Given the description of an element on the screen output the (x, y) to click on. 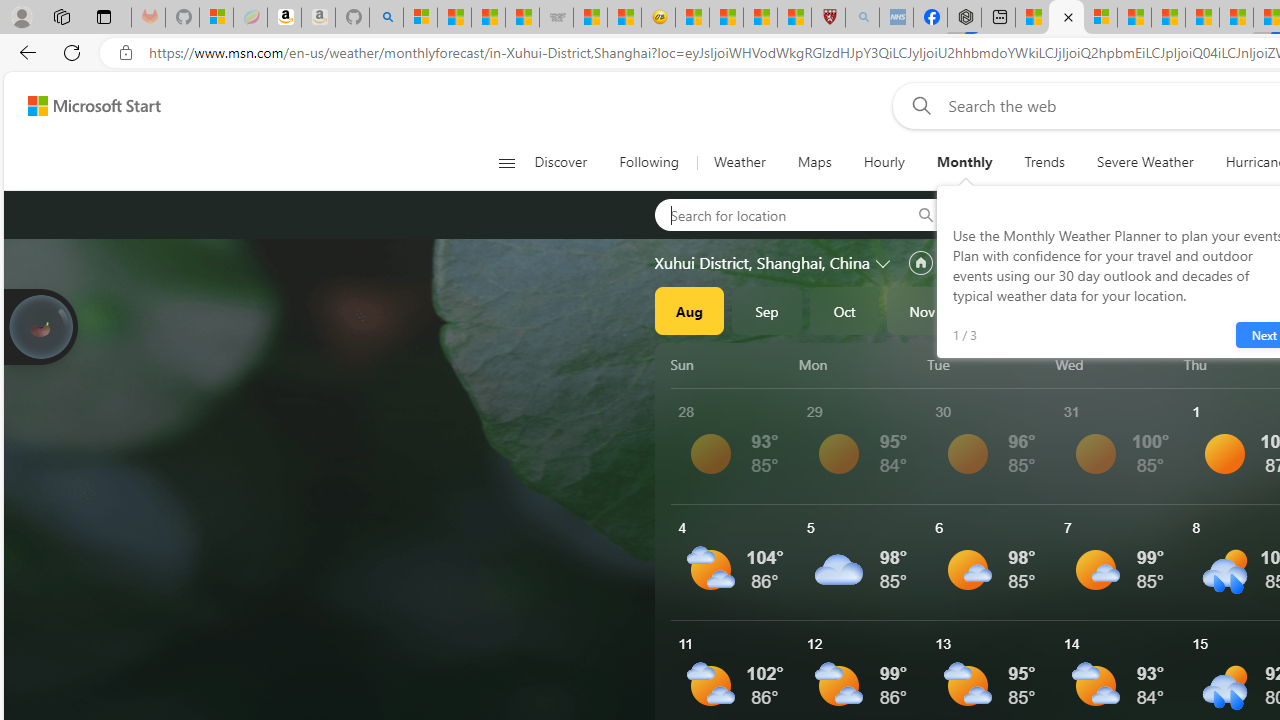
Trends (1044, 162)
